Given the description of an element on the screen output the (x, y) to click on. 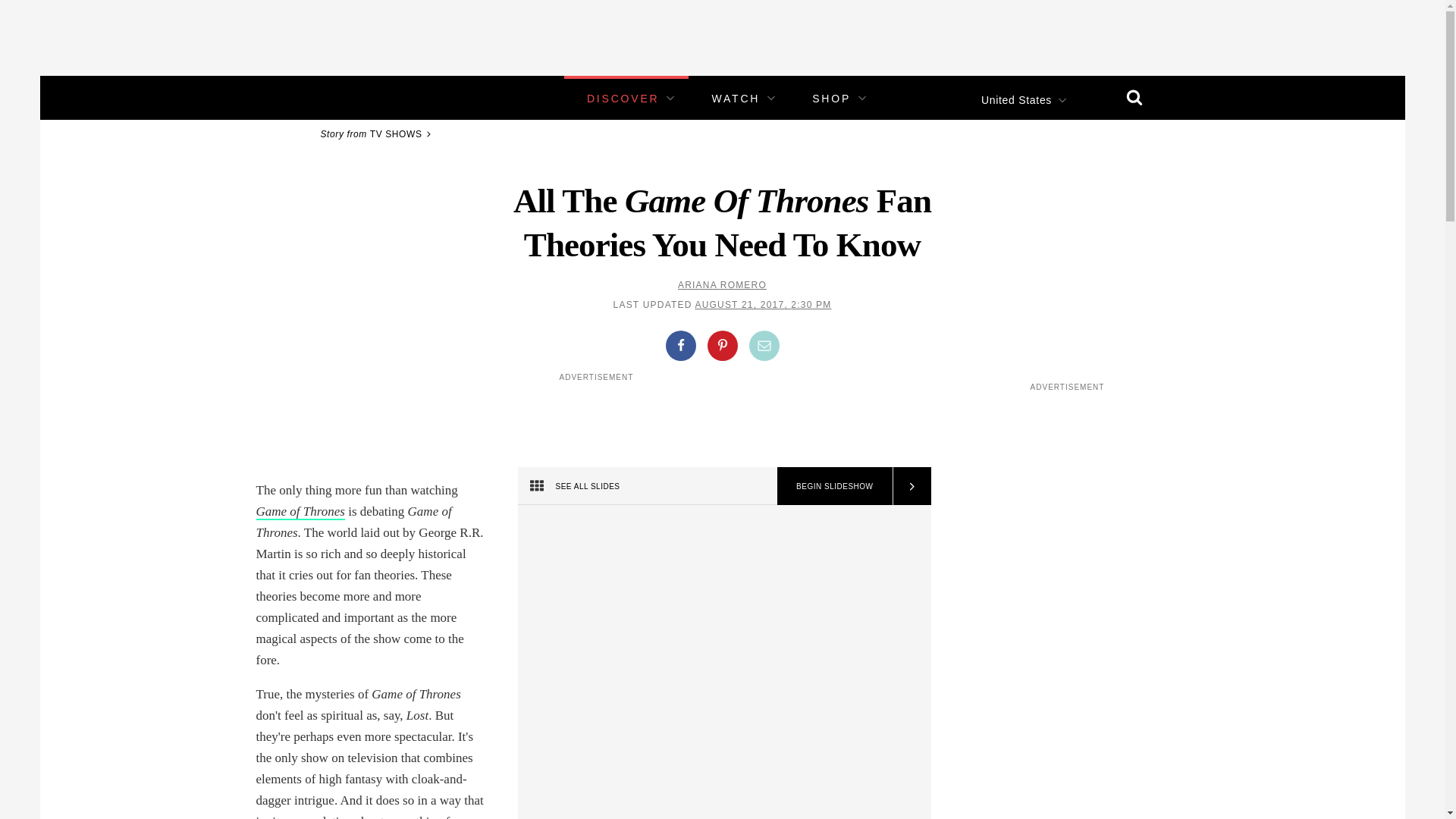
SHOP (831, 98)
BEGIN SLIDESHOW (834, 485)
ARIANA ROMERO (722, 285)
WATCH (735, 98)
Begin Slideshow (834, 485)
DISCOVER (622, 98)
Story from TV SHOWS (377, 133)
Game of Thrones (300, 512)
Next Slide (910, 485)
Refinery29 (352, 97)
Share by Email (763, 345)
Share on Pinterest (721, 345)
AUGUST 21, 2017, 2:30 PM (762, 304)
